Given the description of an element on the screen output the (x, y) to click on. 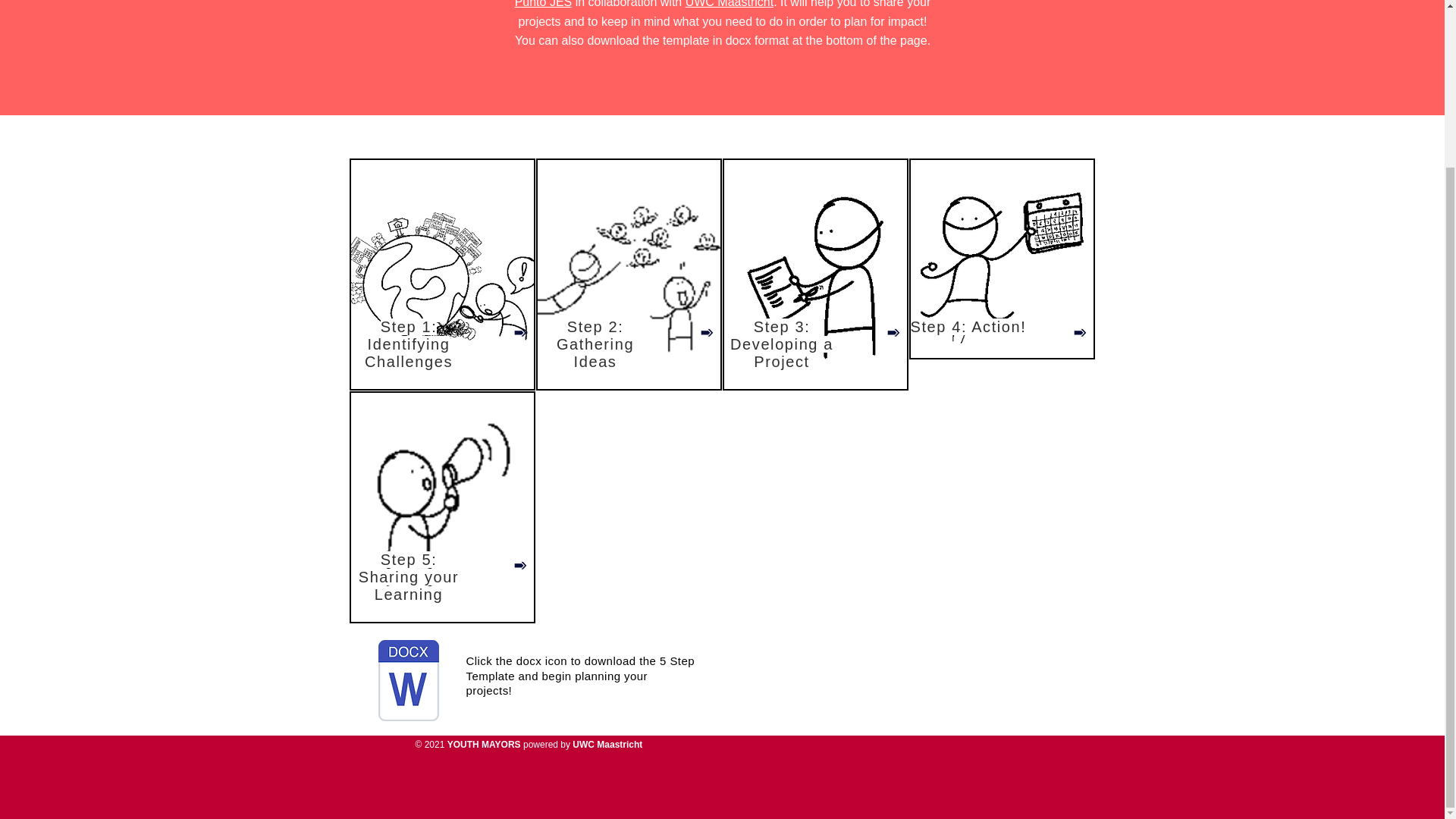
UWC Maastricht (607, 744)
UWC Maastricht (729, 4)
Punto JES (543, 4)
